Given the description of an element on the screen output the (x, y) to click on. 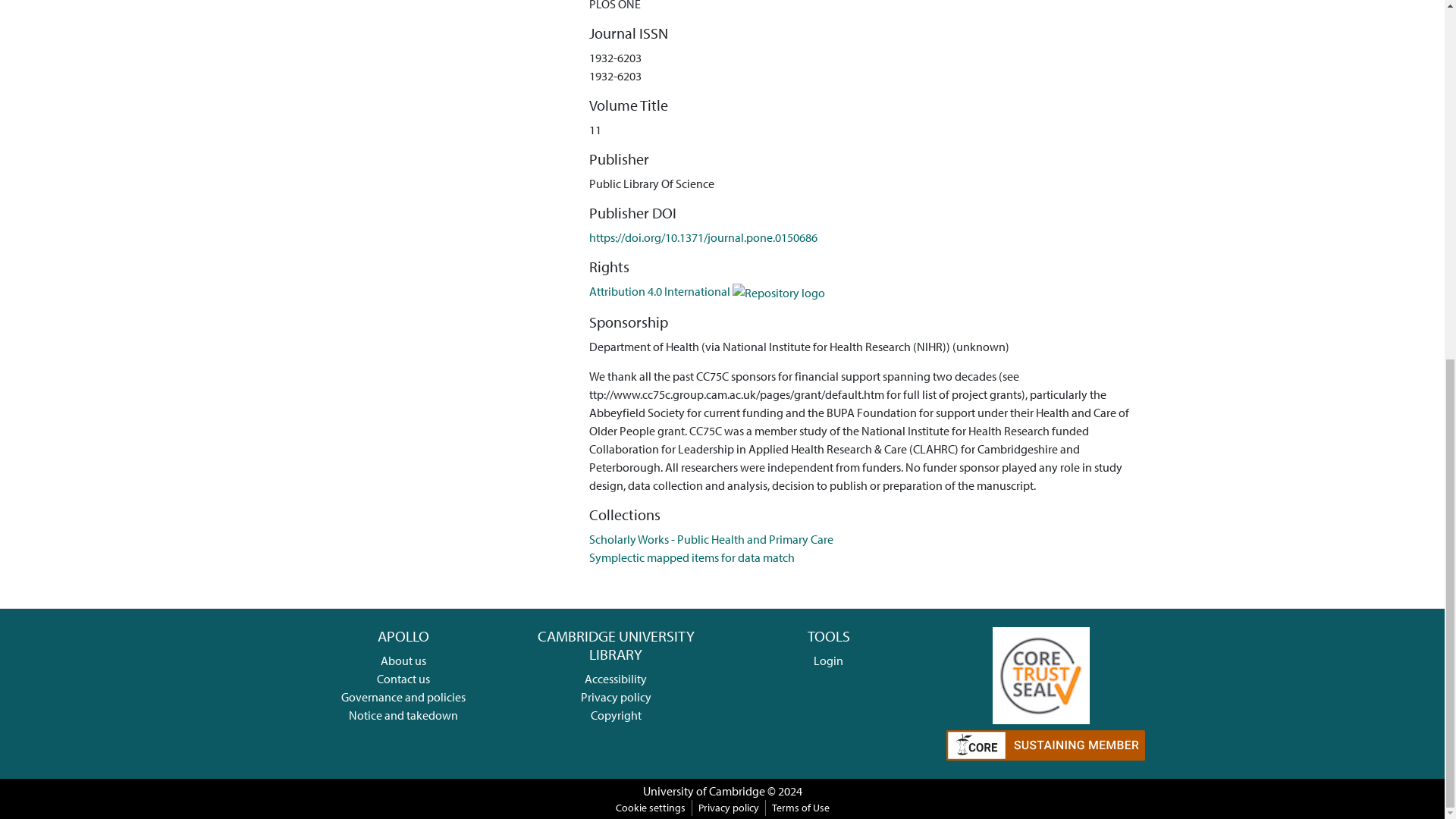
Contact us (403, 678)
Attribution 4.0 International (707, 290)
Scholarly Works - Public Health and Primary Care (710, 539)
Symplectic mapped items for data match (691, 557)
Apollo CTS full application (1040, 673)
About us (403, 660)
